Given the description of an element on the screen output the (x, y) to click on. 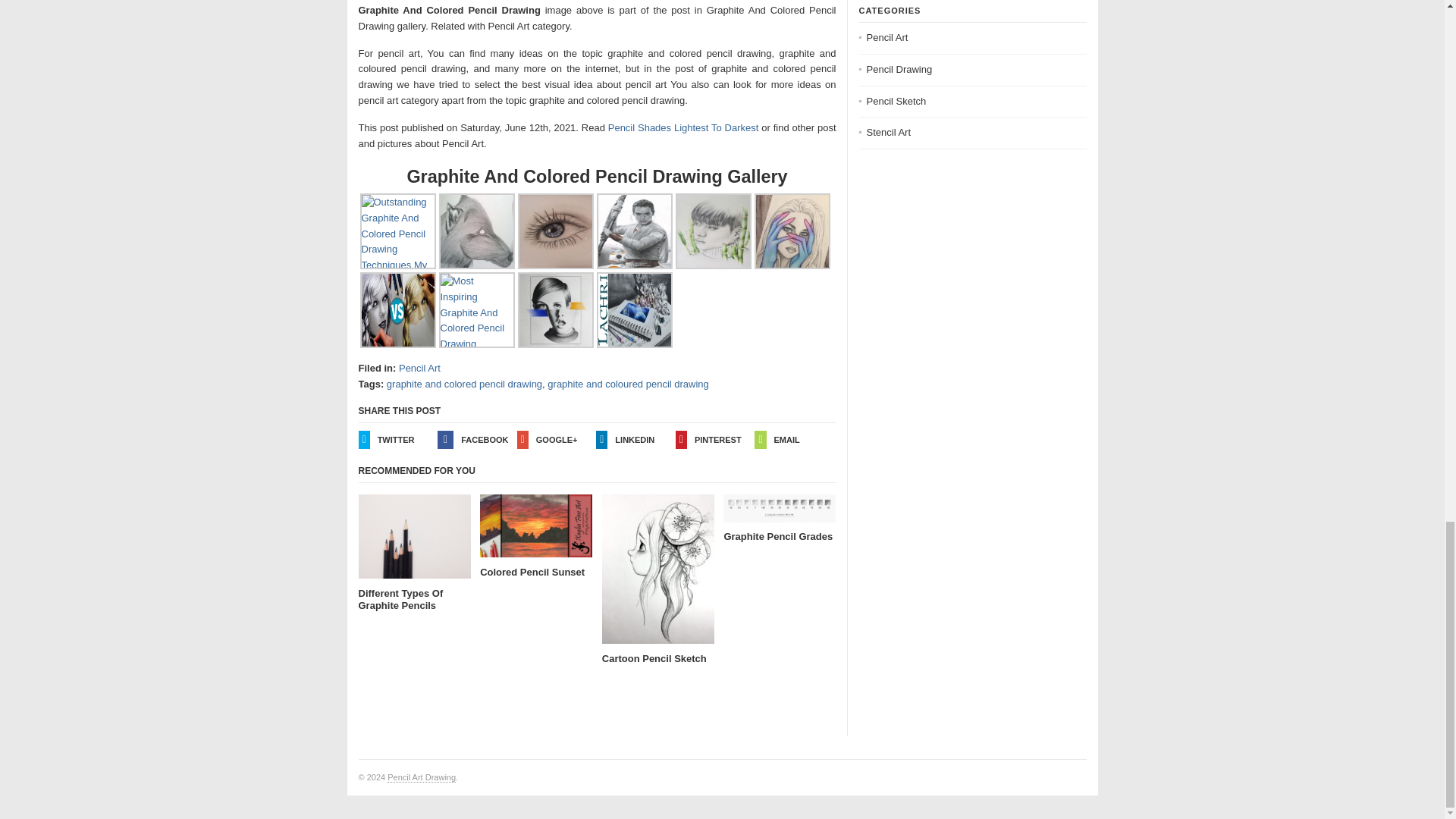
TWITTER (398, 439)
LINKEDIN (635, 439)
Cartoon Pencil Sketch (658, 579)
graphite and colored pencil drawing (464, 383)
FACEBOOK (477, 439)
PINTEREST (715, 439)
Different Types Of Graphite Pencils (414, 552)
EMAIL (794, 439)
Pencil Shades Lightest To Darkest (683, 127)
Colored Pencil Sunset (536, 536)
Pencil Art (419, 367)
Graphite Pencil Grades (779, 518)
graphite and coloured pencil drawing (627, 383)
